Given the description of an element on the screen output the (x, y) to click on. 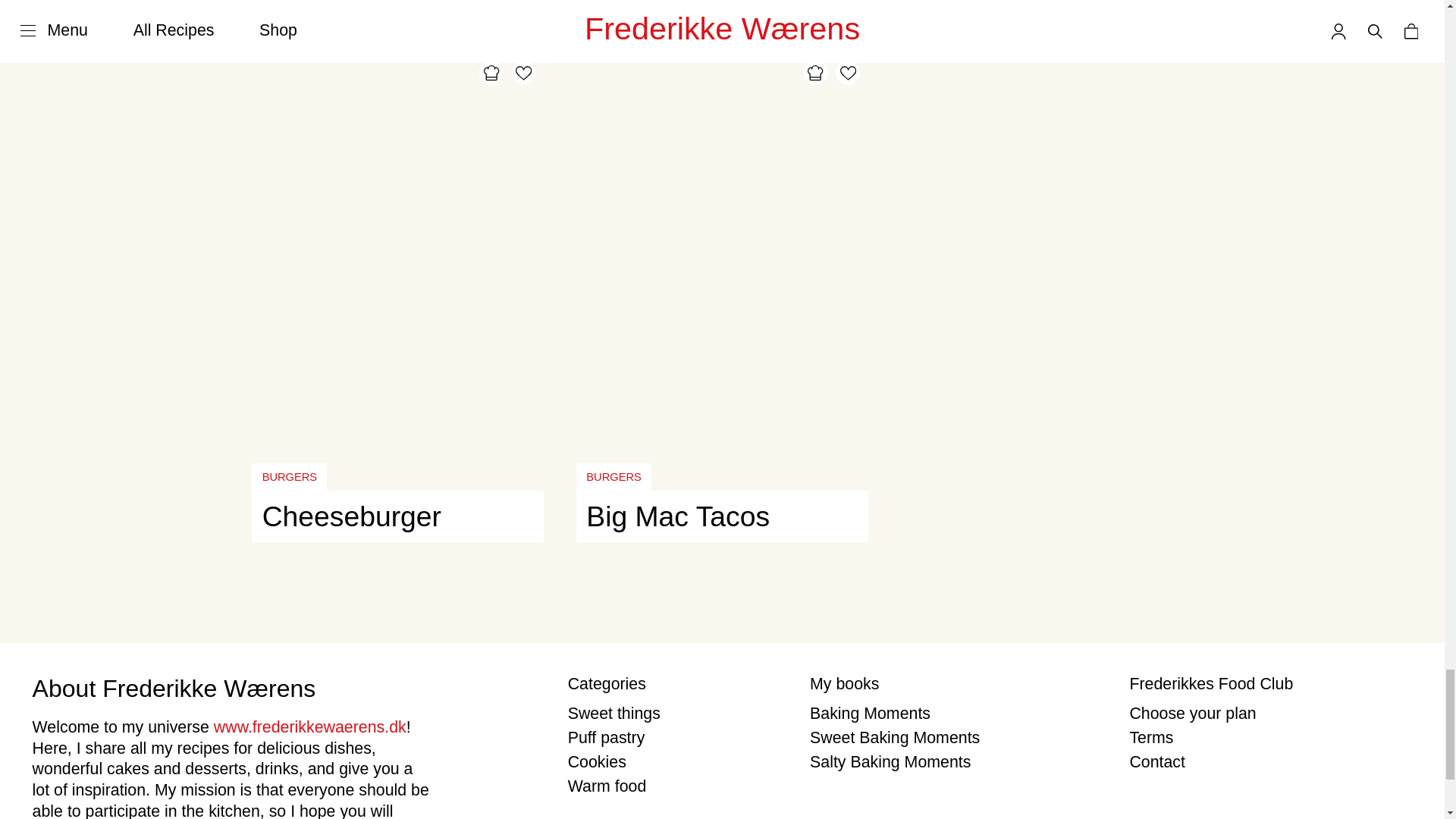
BURGERS (288, 476)
Cheeseburger (397, 516)
Categories (672, 684)
www.frederikkewaerens.dk (310, 727)
BURGERS (613, 476)
Big Mac Tacos (721, 516)
